Given the description of an element on the screen output the (x, y) to click on. 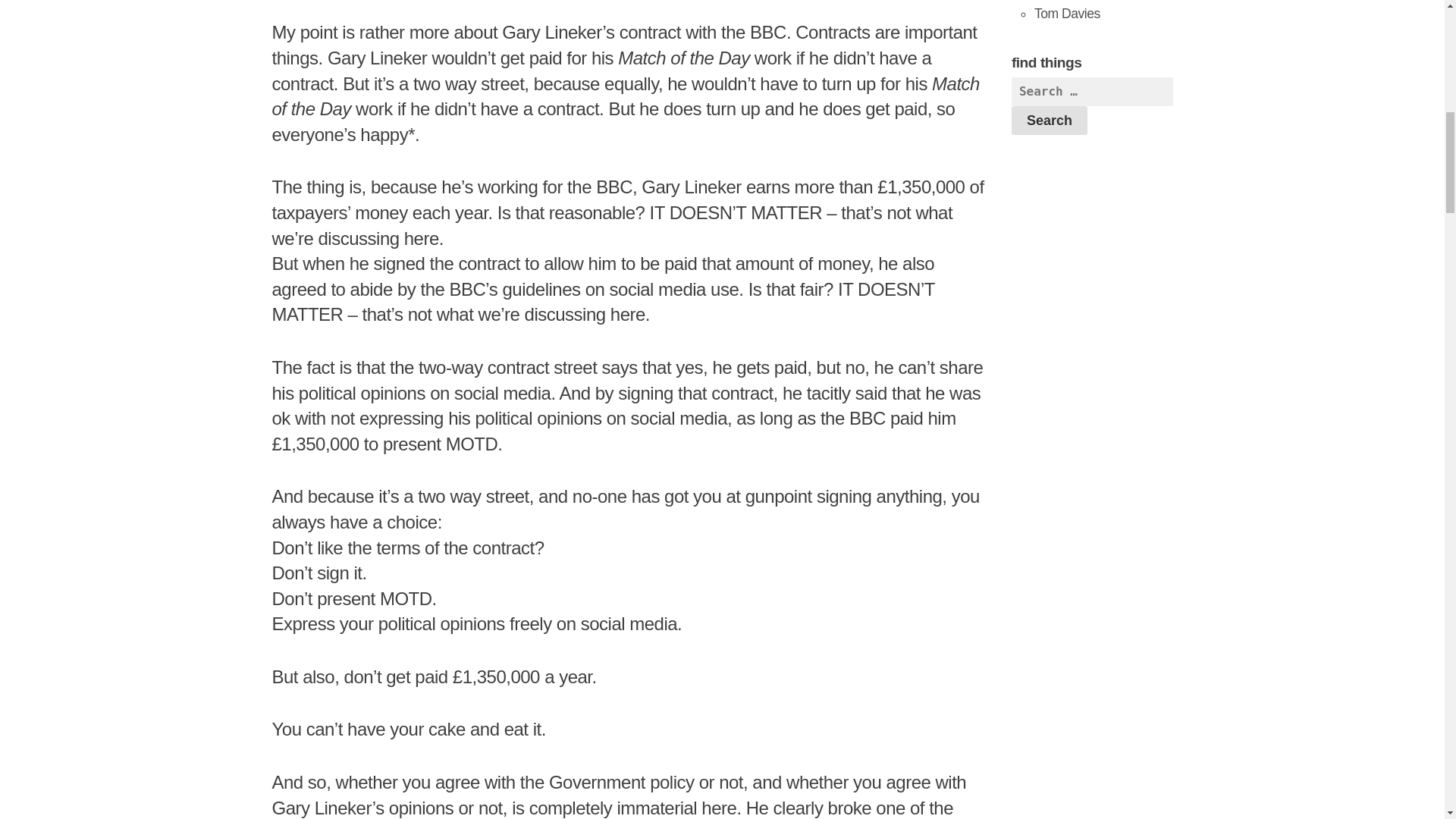
Geoguessr God (1066, 13)
Search (1049, 120)
Search (1049, 120)
